Given the description of an element on the screen output the (x, y) to click on. 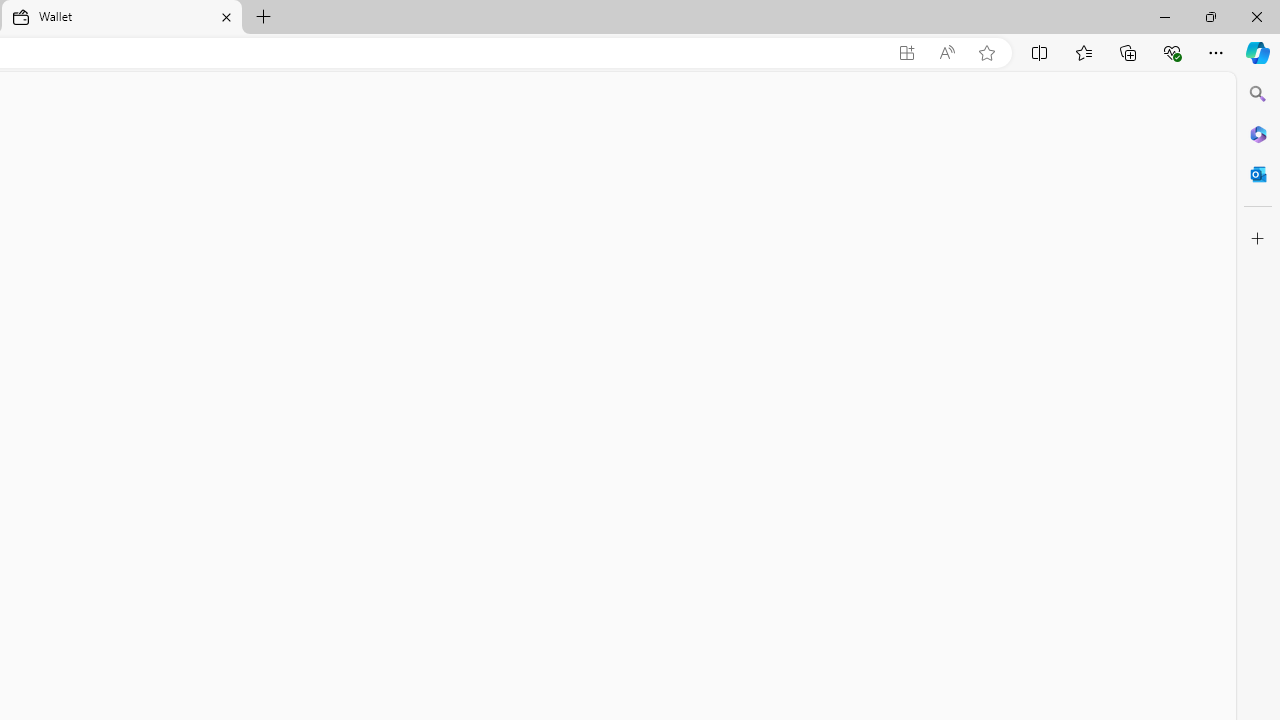
App available. Install Microsoft Wallet (906, 53)
